Given the description of an element on the screen output the (x, y) to click on. 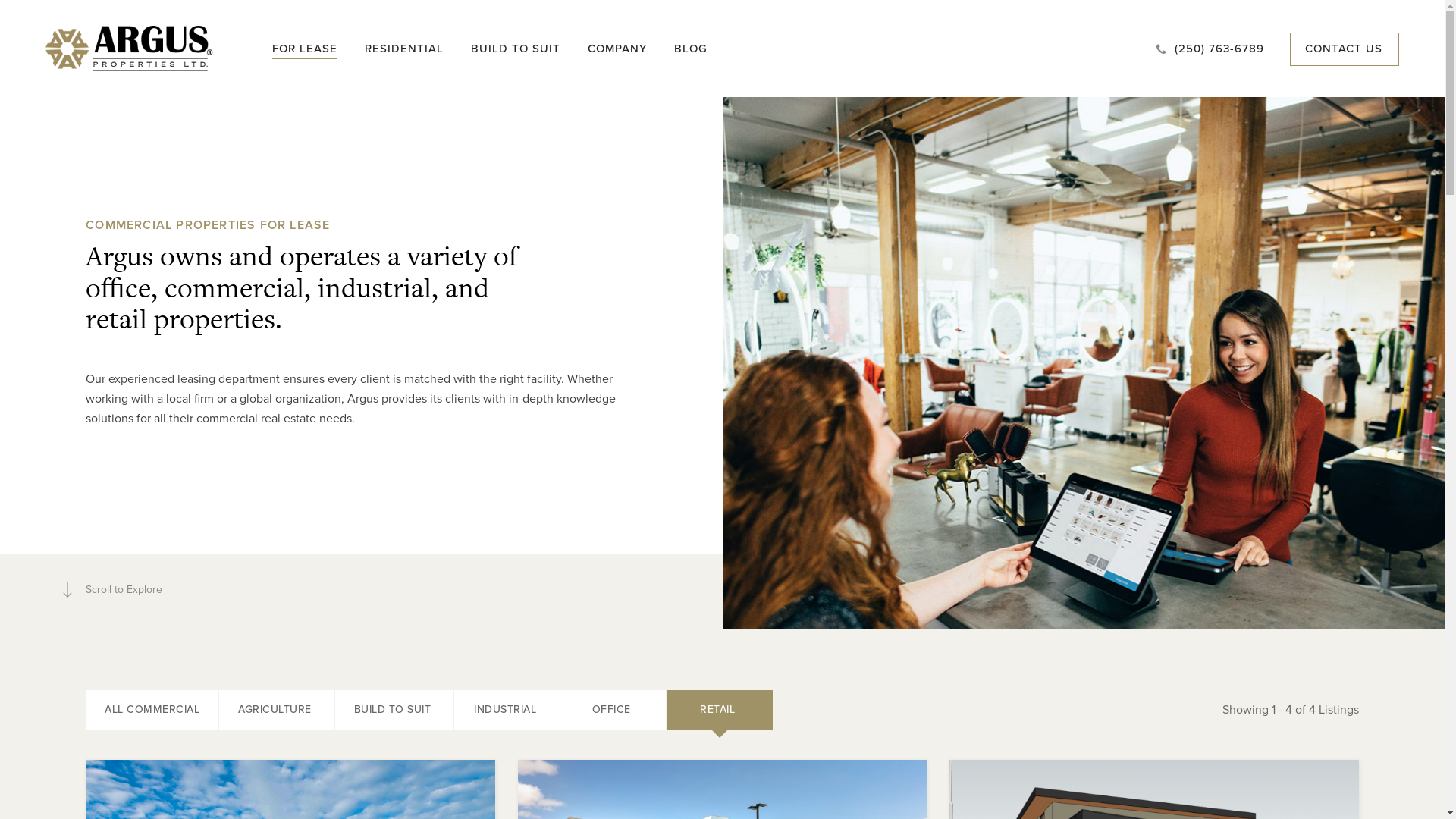
RESIDENTIAL Element type: text (403, 48)
FOR LEASE Element type: text (304, 48)
(250) 763-6789 Element type: text (1210, 48)
BUILD TO SUIT Element type: text (515, 48)
COMPANY Element type: text (616, 48)
CONTACT US Element type: text (1343, 48)
BLOG Element type: text (690, 48)
